Given the description of an element on the screen output the (x, y) to click on. 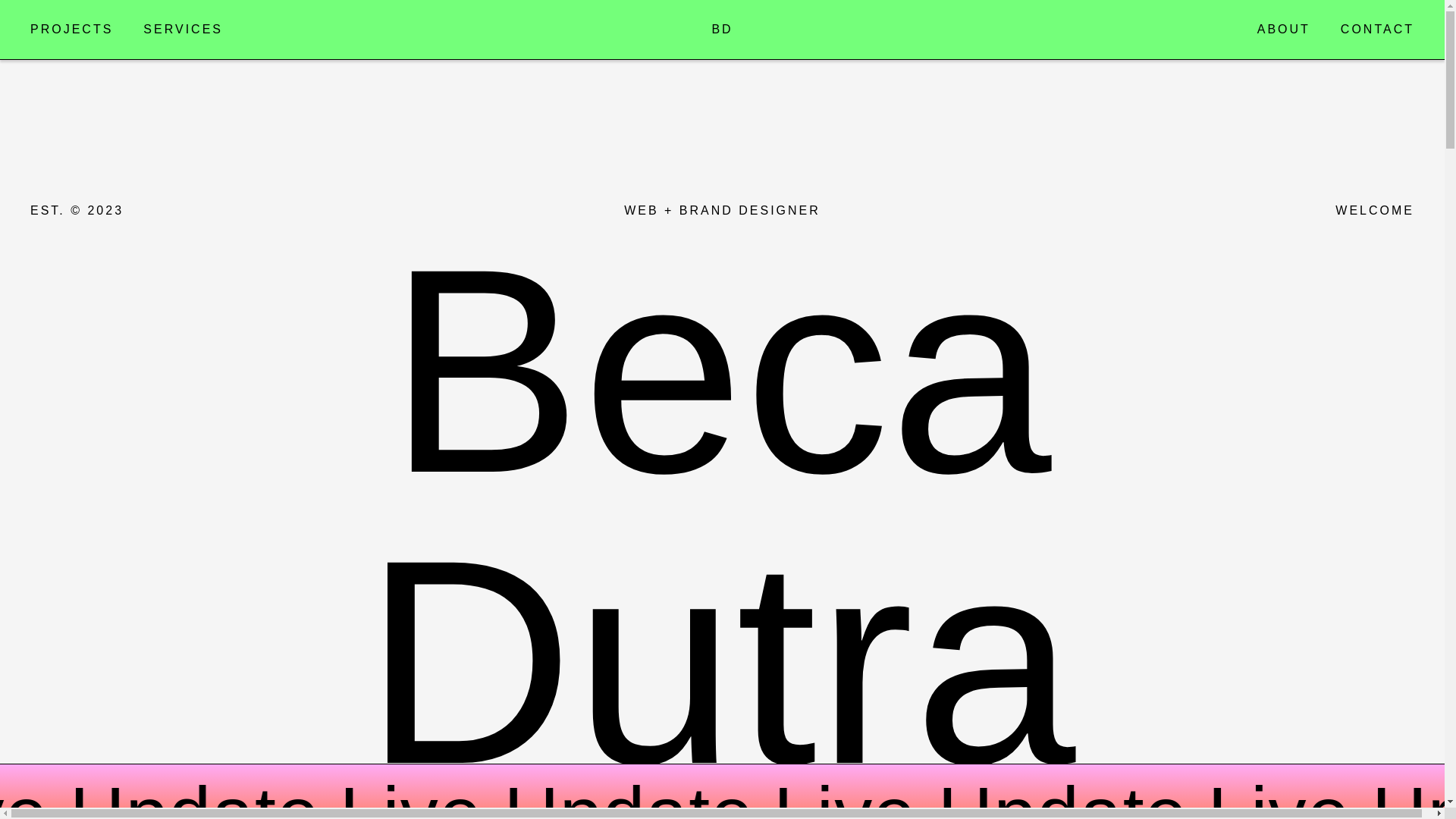
SERVICES (182, 29)
PROJECTS (71, 29)
CONTACT (1376, 29)
ABOUT (1283, 29)
BD (721, 29)
